Given the description of an element on the screen output the (x, y) to click on. 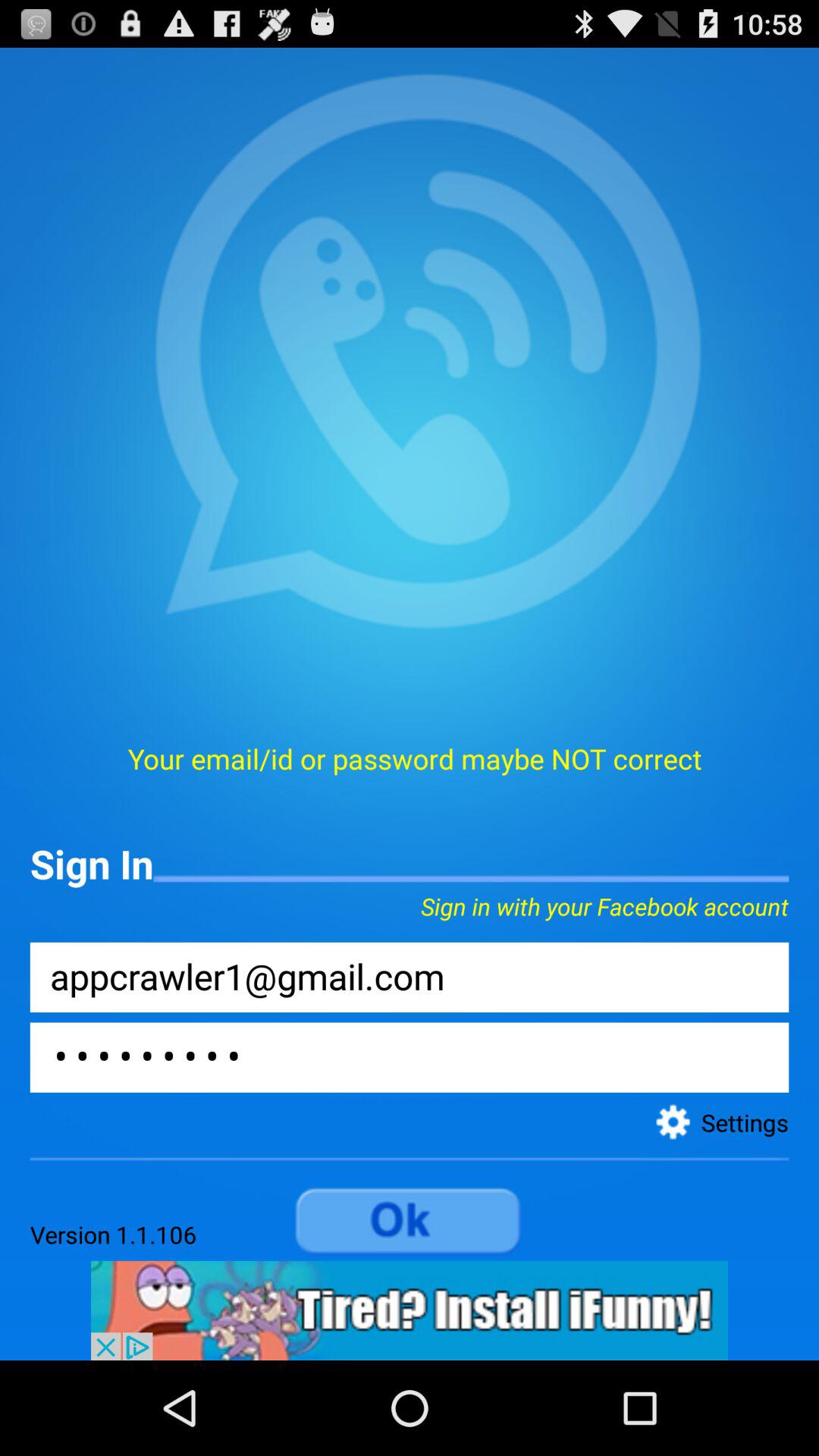
go to next (409, 1221)
